Given the description of an element on the screen output the (x, y) to click on. 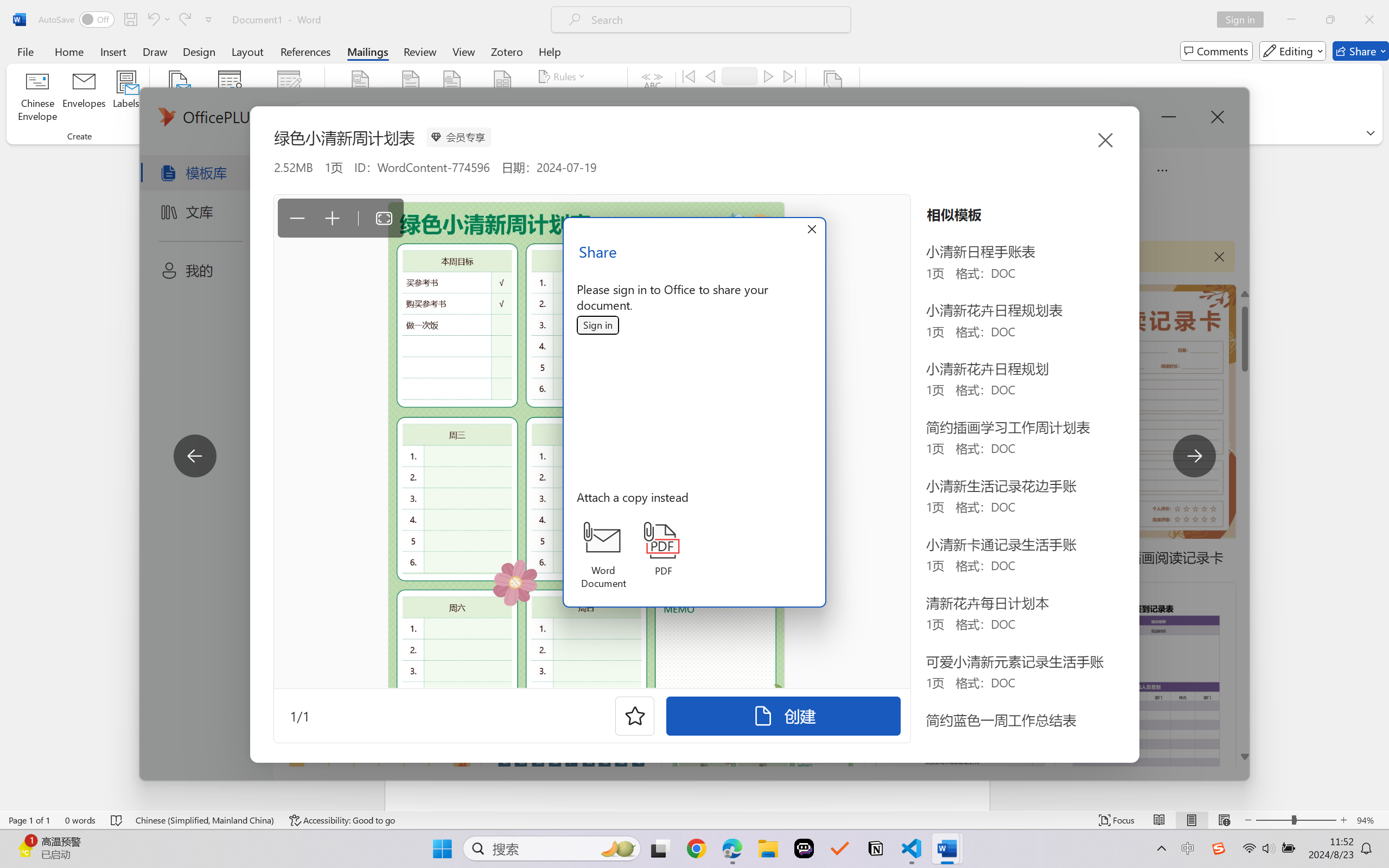
PDF (663, 549)
Start Mail Merge (177, 97)
Match Fields... (573, 97)
